Given the description of an element on the screen output the (x, y) to click on. 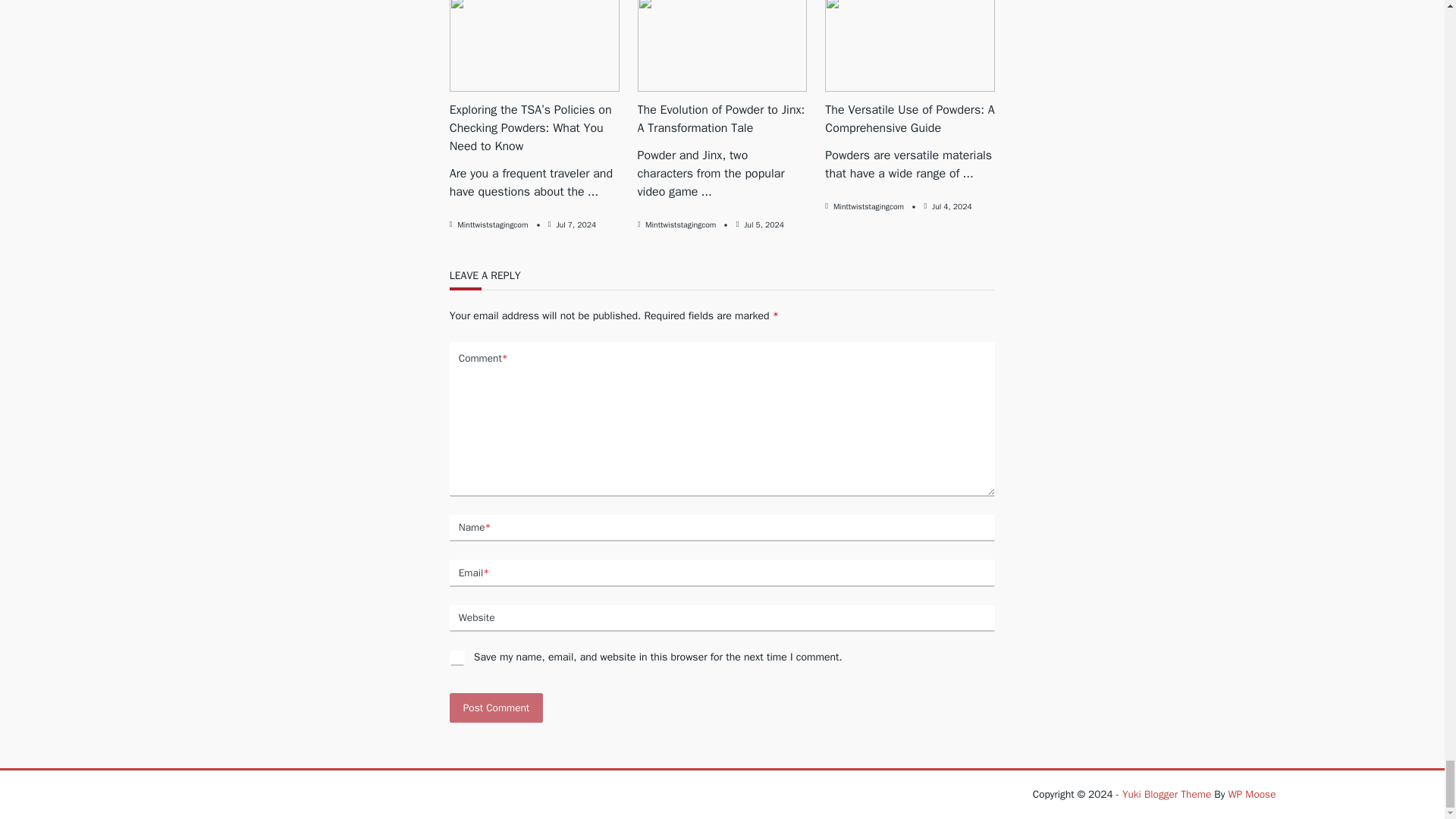
Post Comment (496, 707)
yes (456, 657)
